Given the description of an element on the screen output the (x, y) to click on. 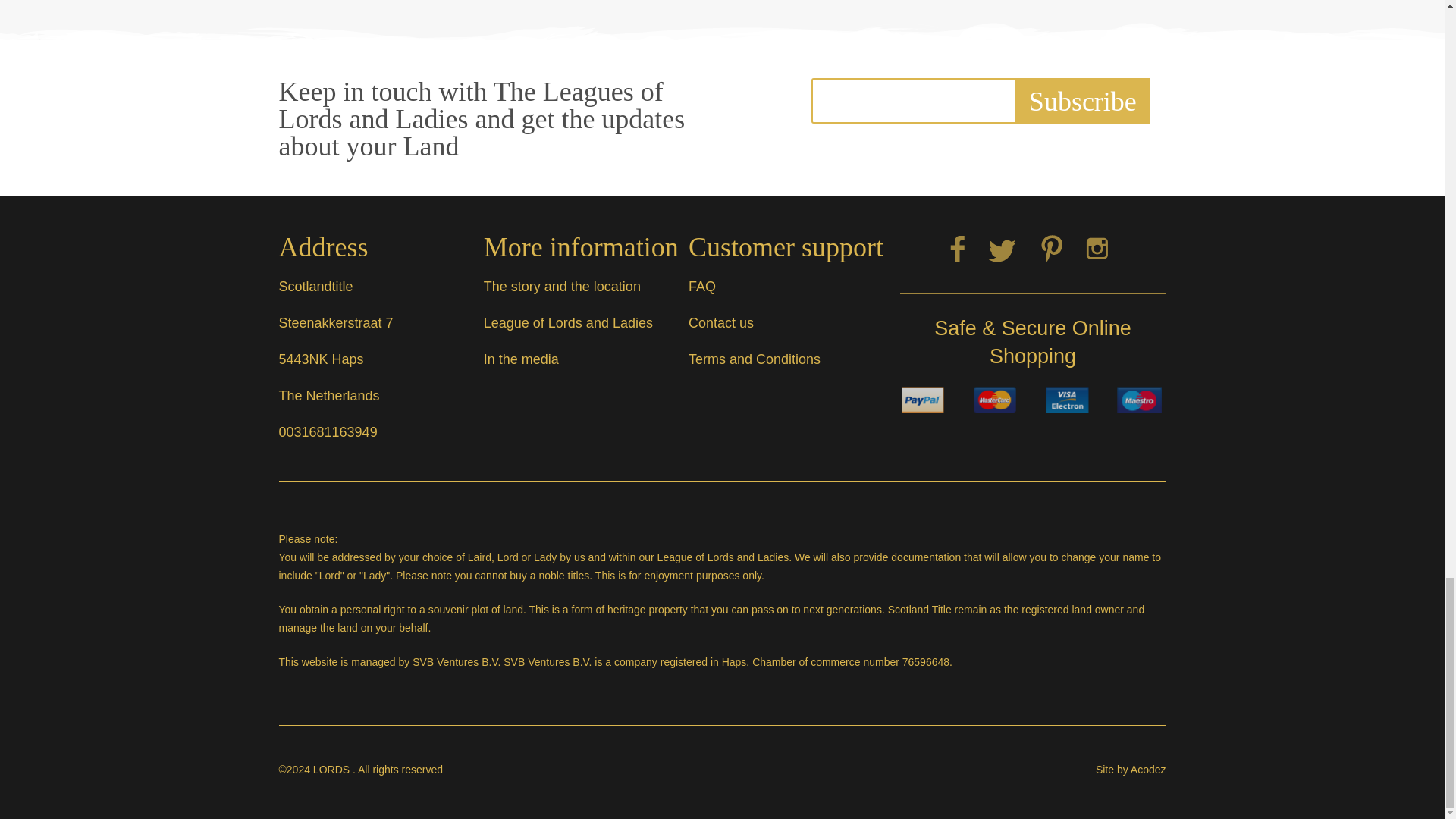
Site by Acodez (1131, 769)
Subscribe (1082, 100)
FAQ (702, 286)
Subscribe (1082, 100)
In the media (521, 359)
Contact us (721, 322)
Terms and Conditions (754, 359)
League of Lords and Ladies (567, 322)
Site by Acodez (1131, 769)
The story and the location (561, 286)
